Given the description of an element on the screen output the (x, y) to click on. 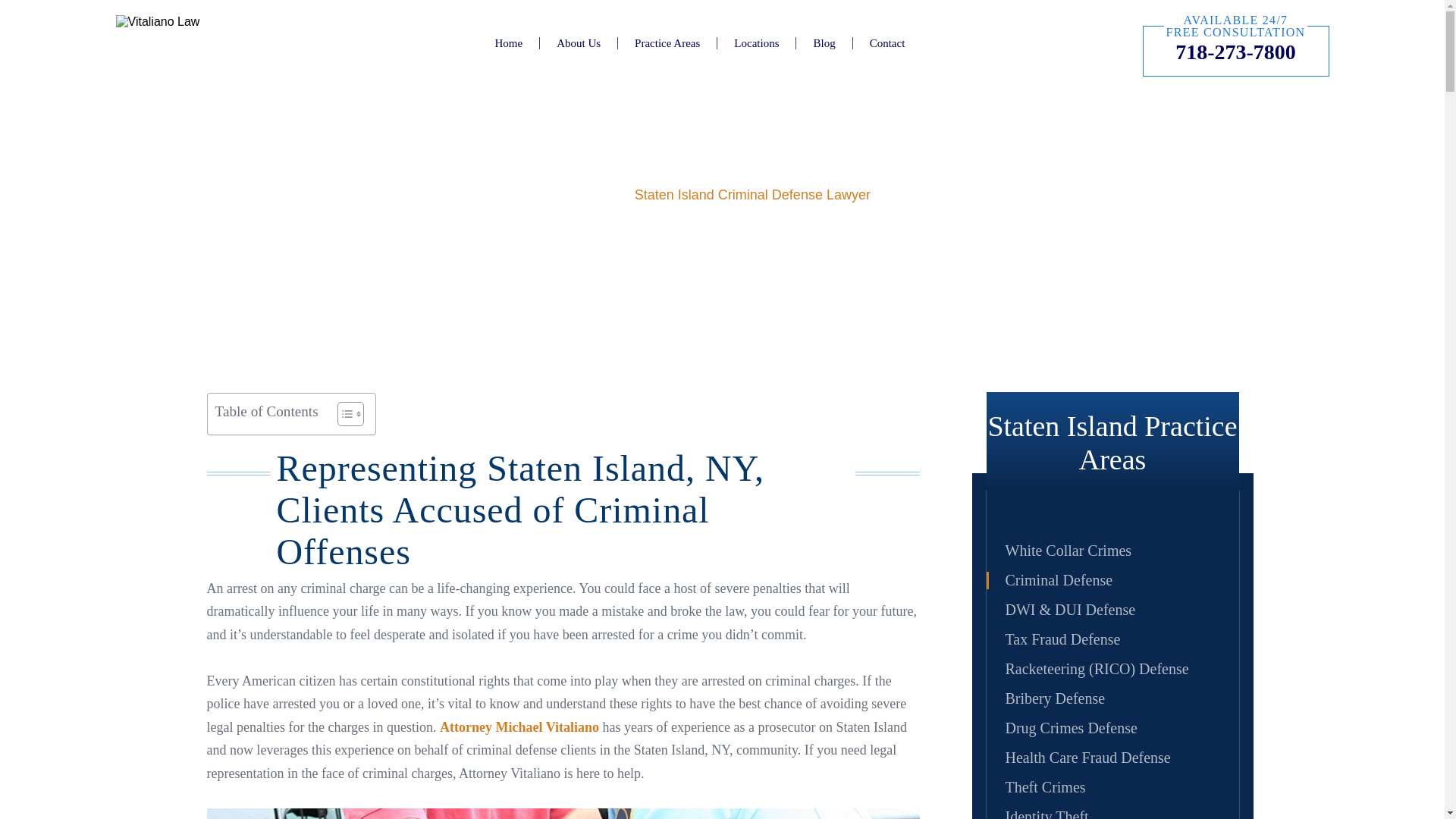
Practice Areas (667, 42)
718-273-7800 (1234, 52)
Home (508, 42)
About Us (578, 42)
